Given the description of an element on the screen output the (x, y) to click on. 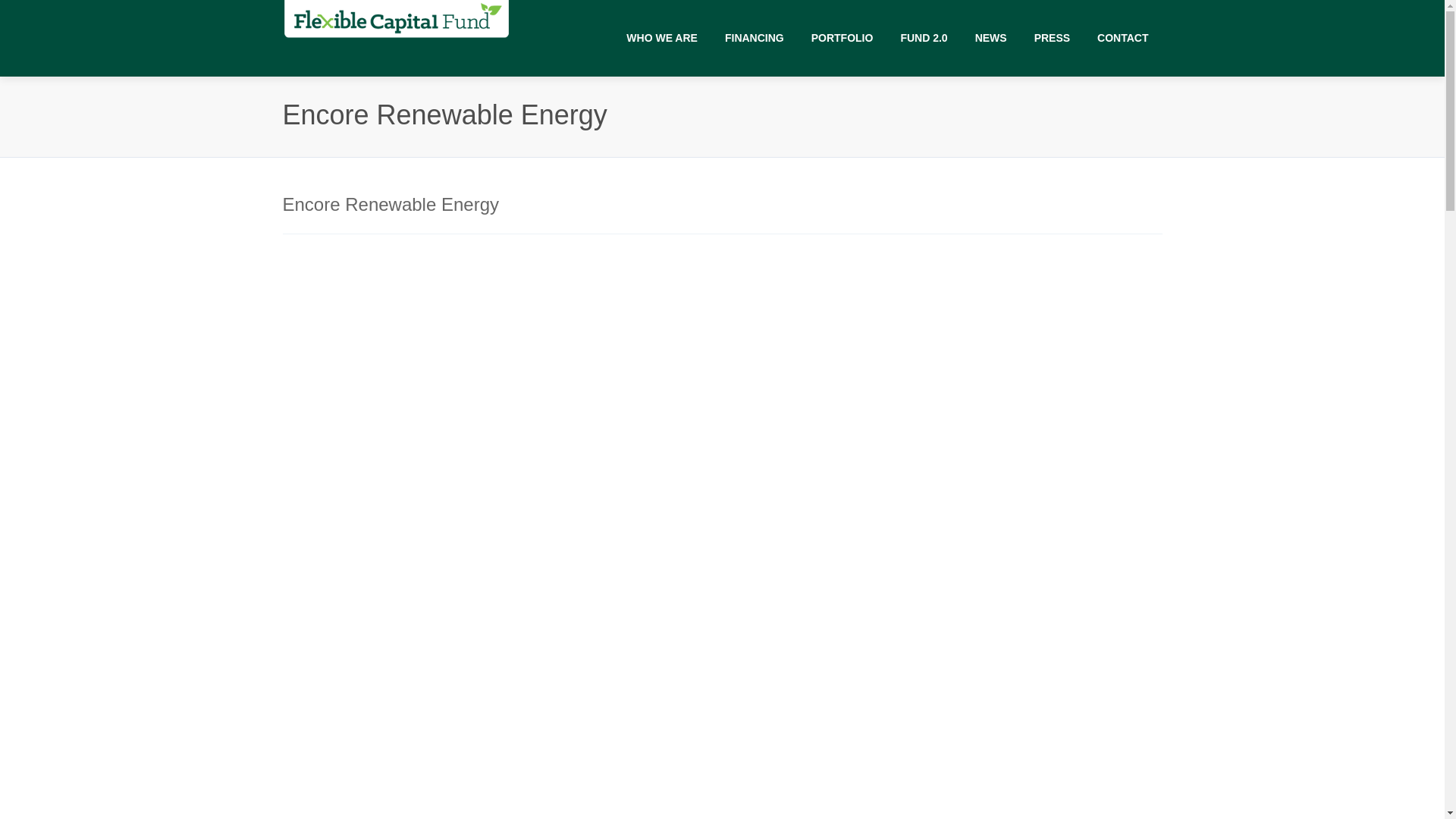
CONTACT (1122, 37)
NEWS (990, 37)
PORTFOLIO (841, 37)
FINANCING (754, 37)
WHO WE ARE (661, 37)
FUND 2.0 (923, 37)
Flexible Capital Fund (395, 19)
PRESS (1051, 37)
